Given the description of an element on the screen output the (x, y) to click on. 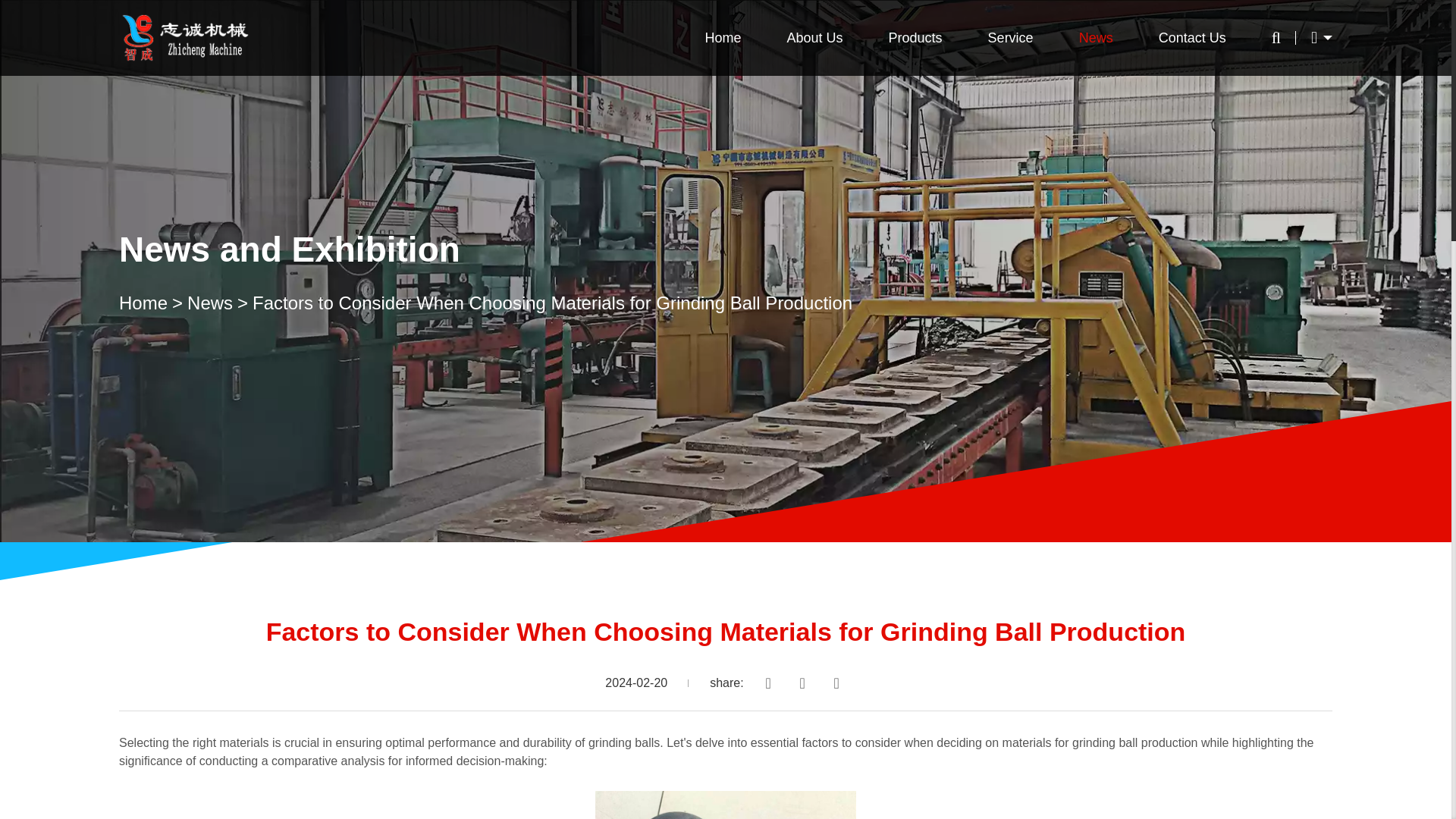
search (885, 133)
Home (153, 302)
Contact Us (1191, 38)
News (219, 302)
